Given the description of an element on the screen output the (x, y) to click on. 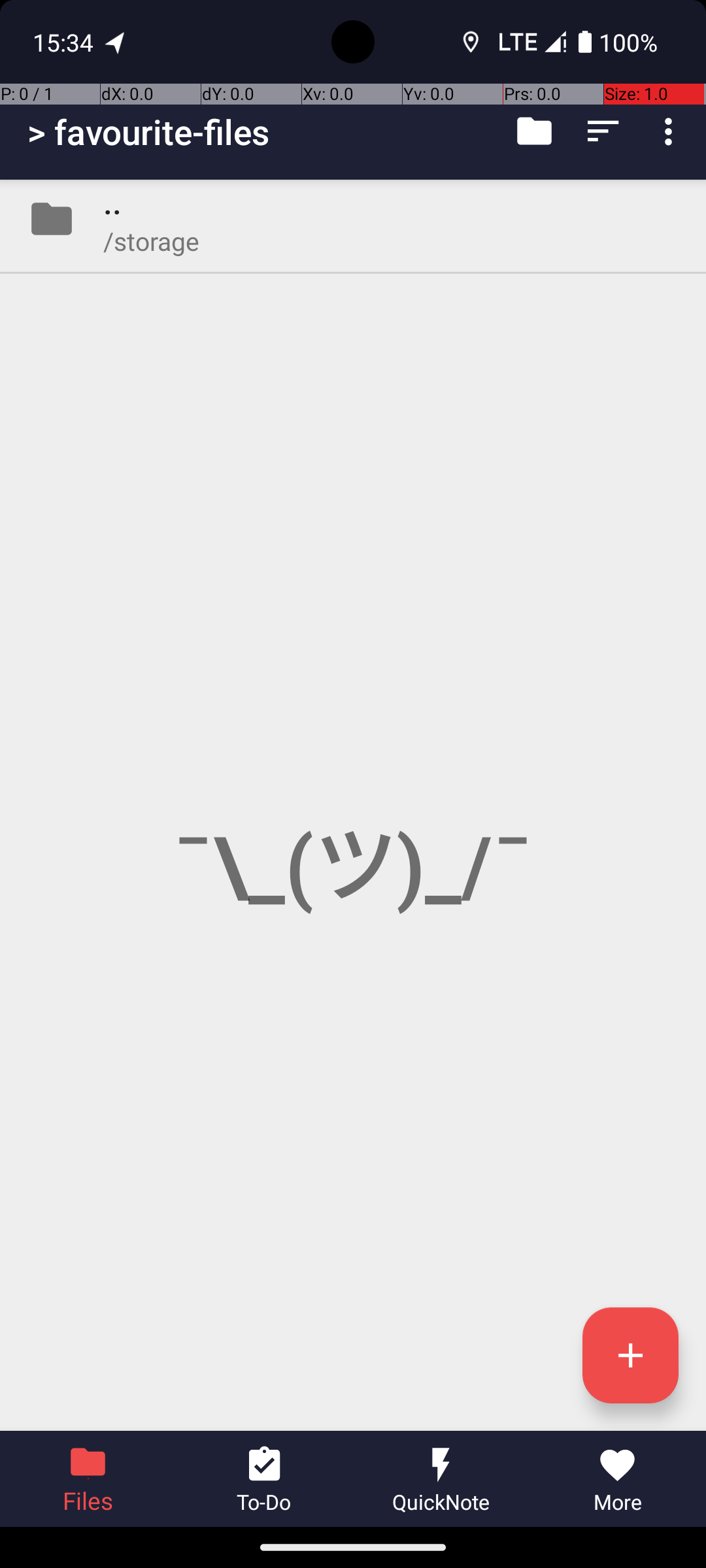
> favourite-files Element type: android.widget.TextView (148, 131)
